Given the description of an element on the screen output the (x, y) to click on. 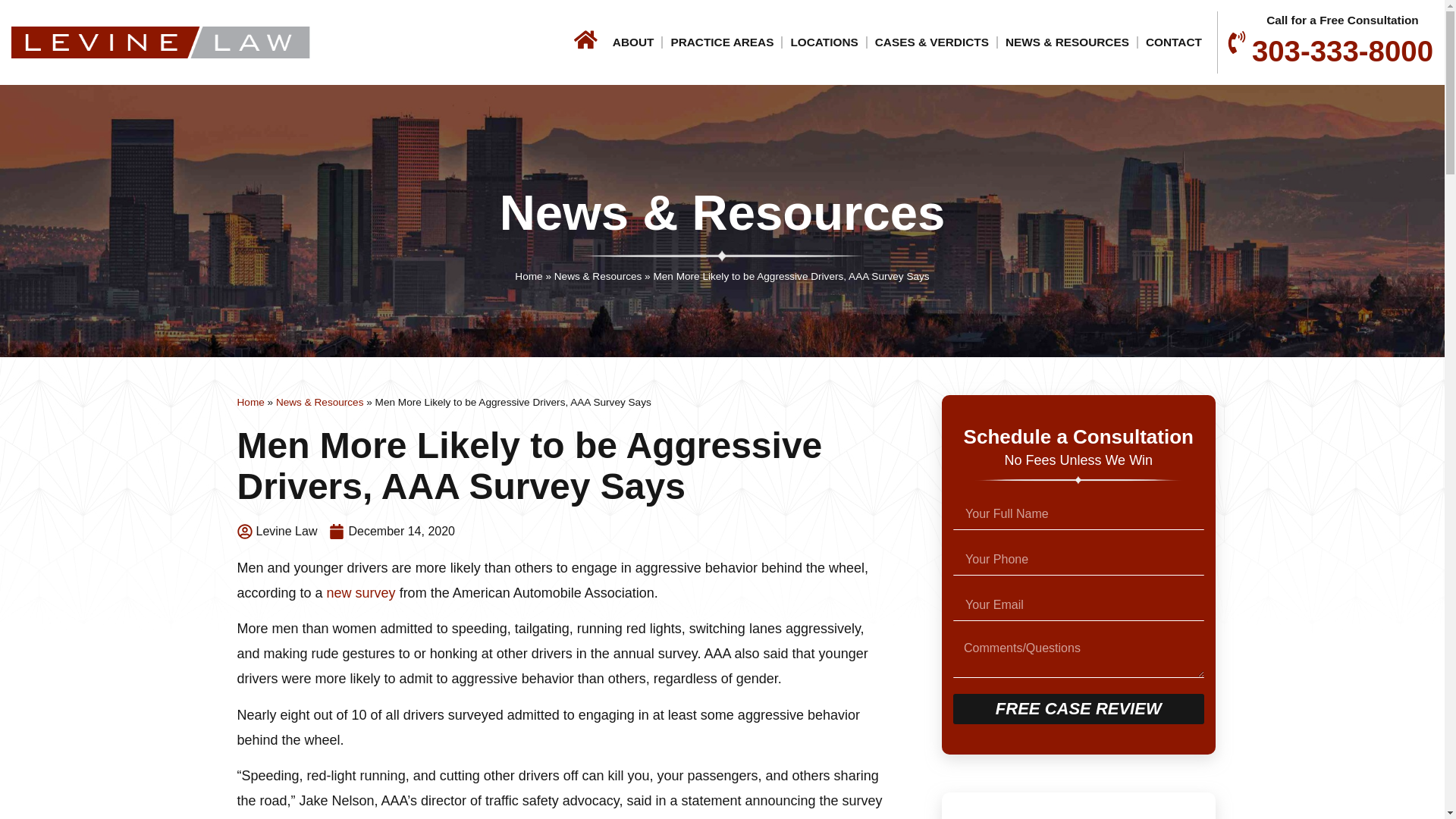
ABOUT (633, 42)
LOCATIONS (823, 42)
PRACTICE AREAS (721, 42)
